Given the description of an element on the screen output the (x, y) to click on. 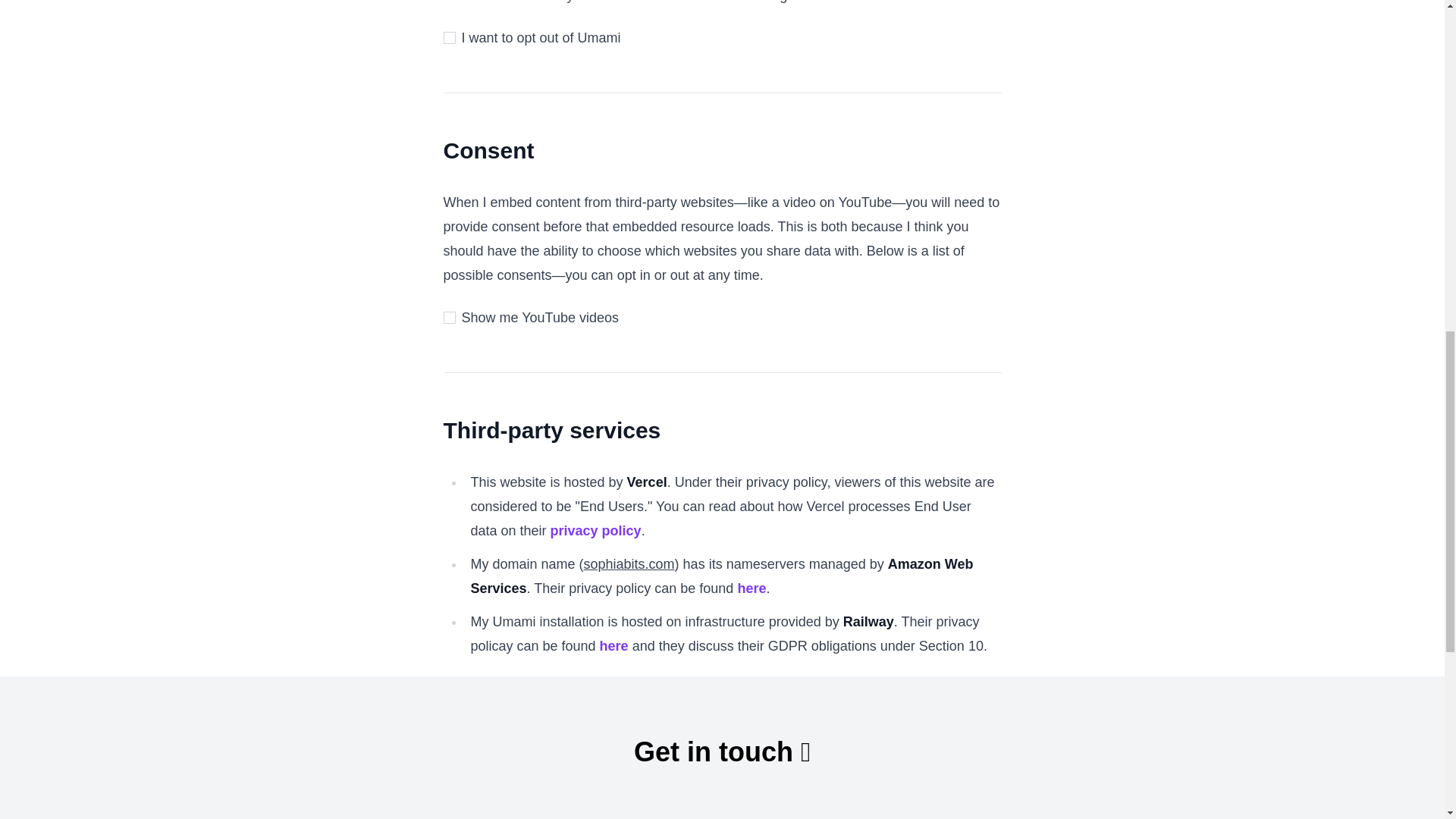
here (750, 588)
Do Not Track (700, 1)
here (613, 645)
privacy policy (596, 530)
